Given the description of an element on the screen output the (x, y) to click on. 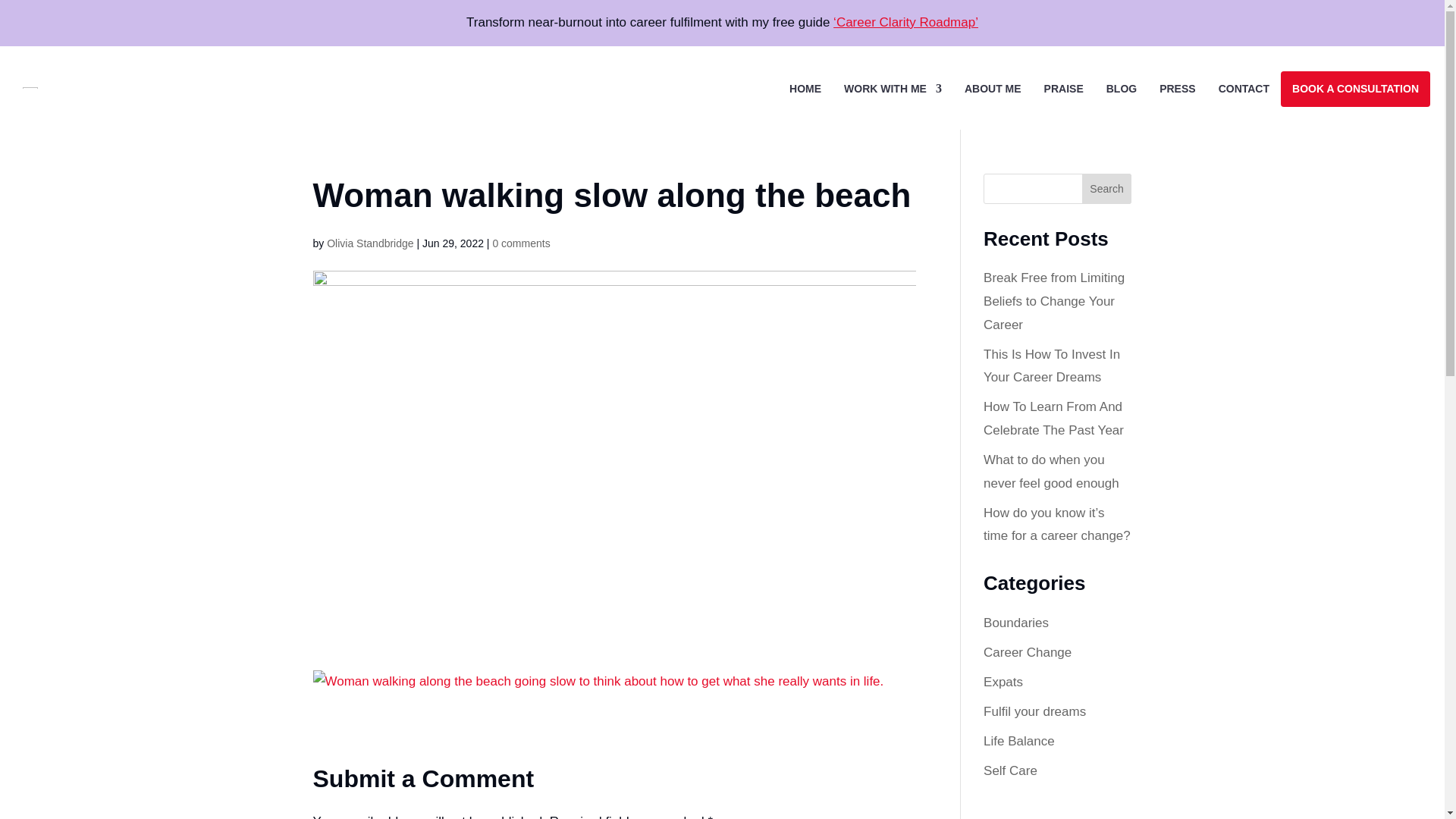
Self Care (1010, 770)
How To Learn From And Celebrate The Past Year (1054, 418)
Search (1106, 188)
PRESS (1176, 88)
Expats (1003, 681)
WORK WITH ME (893, 88)
PRAISE (1063, 88)
0 comments (521, 243)
Boundaries (1016, 622)
Career Change (1027, 652)
BOOK A CONSULTATION (1355, 88)
Search (1106, 188)
ABOUT ME (992, 88)
Life Balance (1019, 740)
HOME (805, 88)
